Given the description of an element on the screen output the (x, y) to click on. 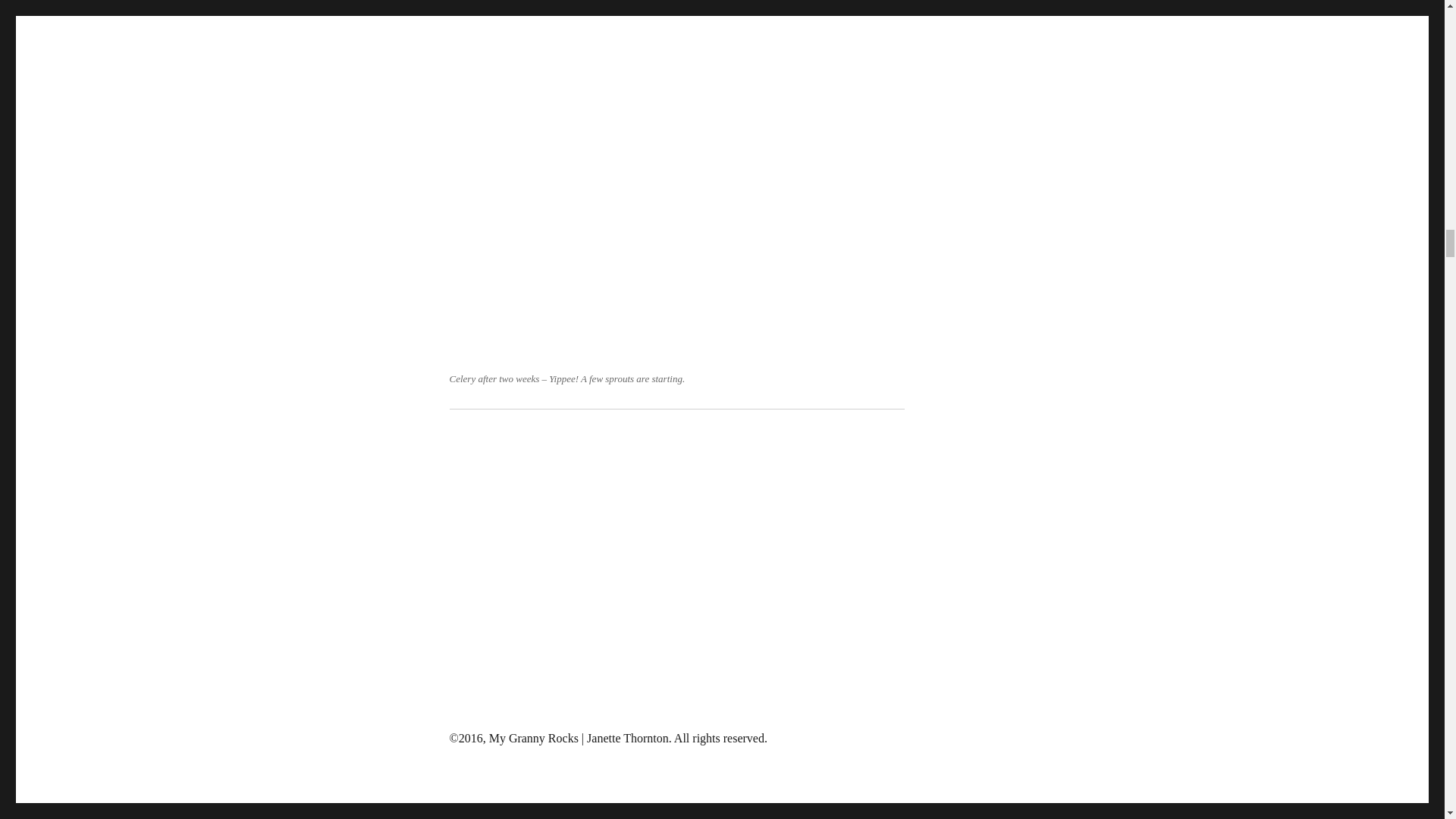
Twitter (524, 816)
Pinterest (463, 816)
Share (555, 816)
Facebook (494, 816)
Twitter (524, 816)
Pinterest (463, 816)
Facebook (494, 816)
